Given the description of an element on the screen output the (x, y) to click on. 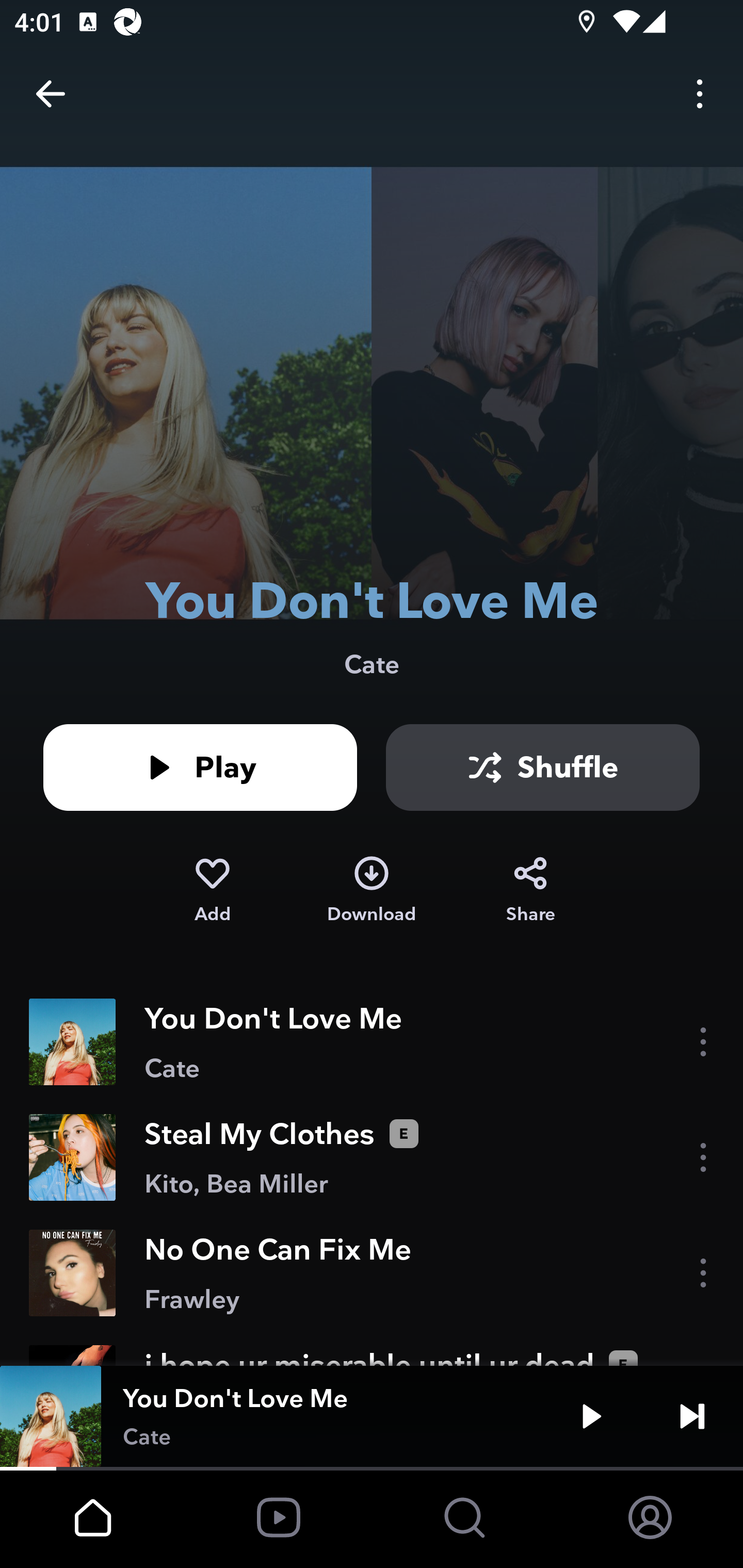
Options (699, 93)
Play (200, 767)
Shuffle (542, 767)
Add (211, 890)
Download (371, 890)
Share (530, 890)
You Don't Love Me Cate (371, 1041)
Steal My Clothes Kito, Bea Miller (371, 1157)
No One Can Fix Me Frawley (371, 1273)
You Don't Love Me Cate Play (371, 1416)
Play (590, 1416)
